Given the description of an element on the screen output the (x, y) to click on. 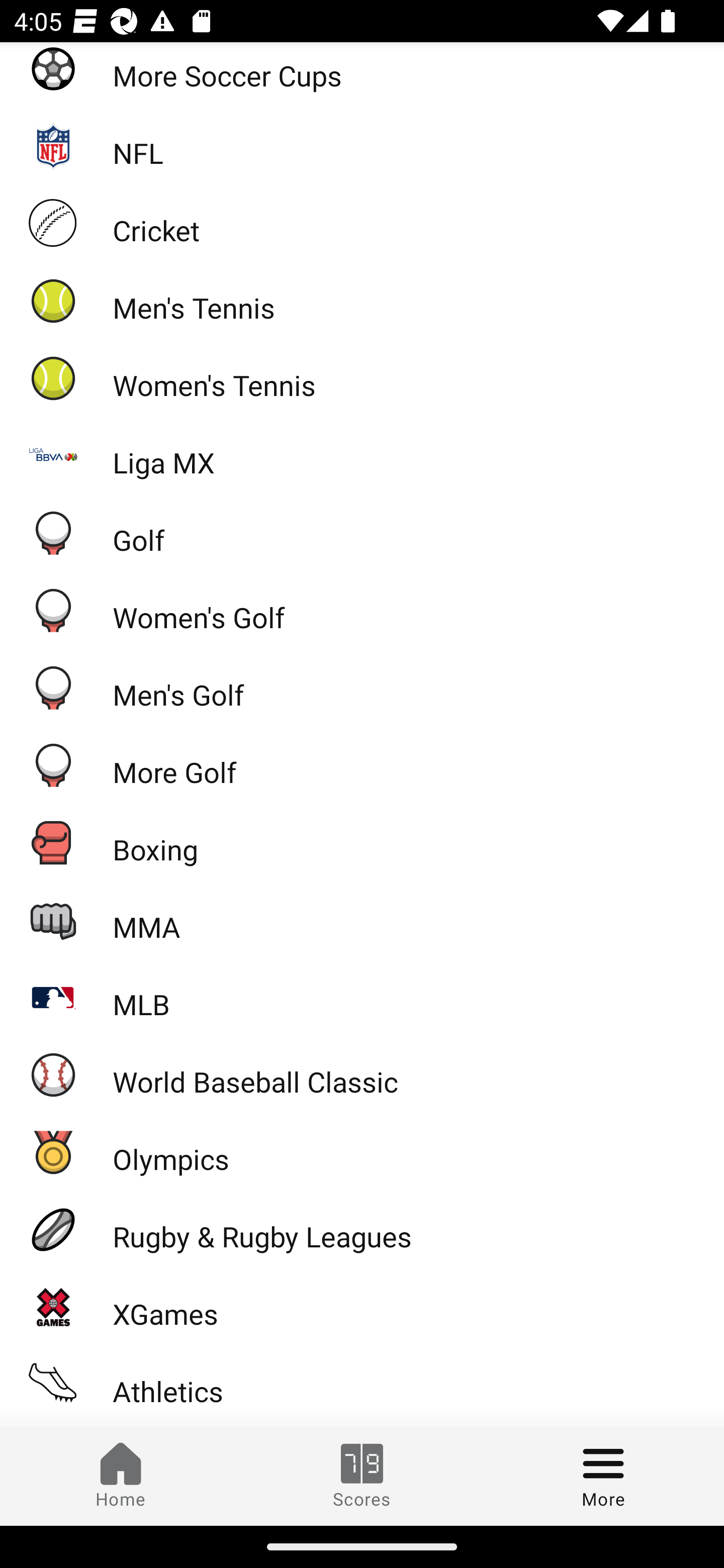
More Soccer Cups (362, 74)
NFL (362, 145)
Cricket G Cricket (362, 223)
Men's Tennis (362, 299)
Women's Tennis (362, 377)
Liga MX (362, 455)
Golf (362, 531)
Women's Golf (362, 609)
Men's Golf (362, 687)
More Golf (362, 763)
Boxing (362, 841)
MMA (362, 919)
MLB (362, 997)
World Baseball Classic (362, 1074)
Olympics (362, 1151)
Rugby & Rugby Leagues (362, 1229)
XGames (362, 1306)
Athletics ‹ Athletics (362, 1383)
NCAA Football (362, 1424)
Home (120, 1475)
Scores (361, 1475)
